Given the description of an element on the screen output the (x, y) to click on. 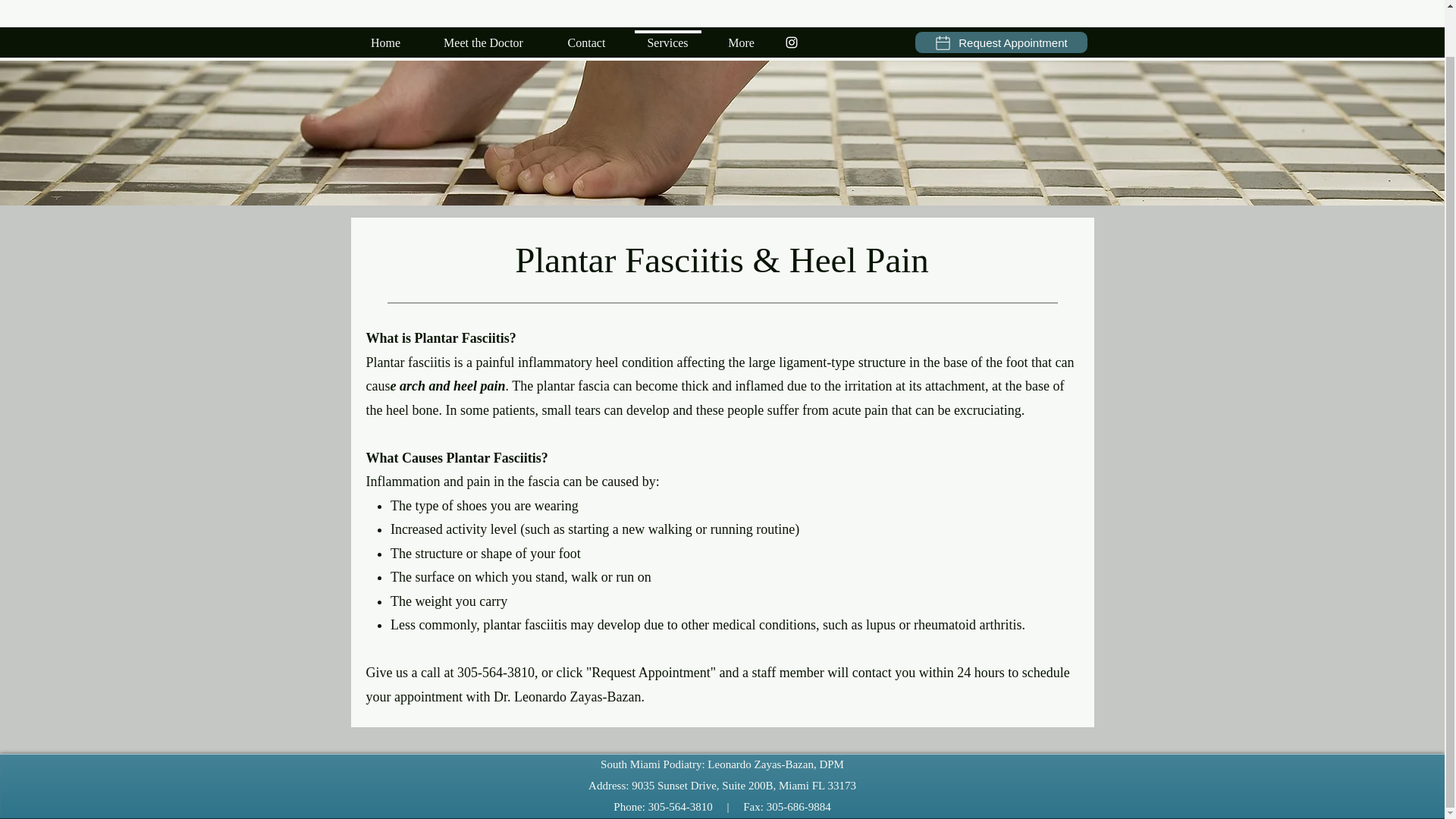
Request Appointment (1000, 2)
rheumatoid arthritis (968, 624)
lupus (880, 624)
